Given the description of an element on the screen output the (x, y) to click on. 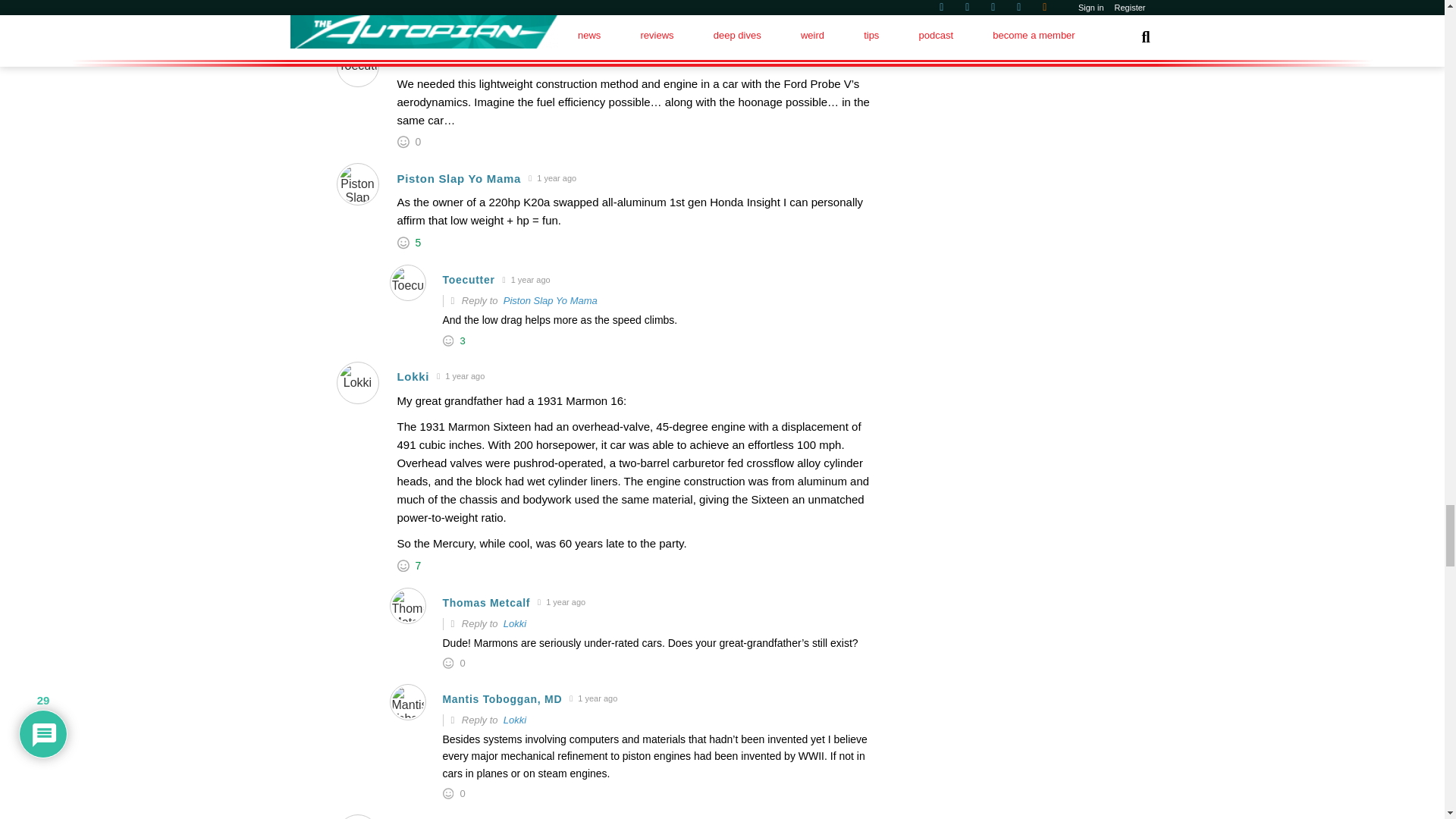
3 (461, 340)
April 4, 2023 12:27 pm (484, 60)
April 4, 2023 8:37 am (459, 376)
7 (418, 565)
April 4, 2023 9:36 am (551, 178)
April 4, 2023 12:27 pm (526, 279)
0 (461, 23)
5 (418, 242)
0 (418, 141)
